Given the description of an element on the screen output the (x, y) to click on. 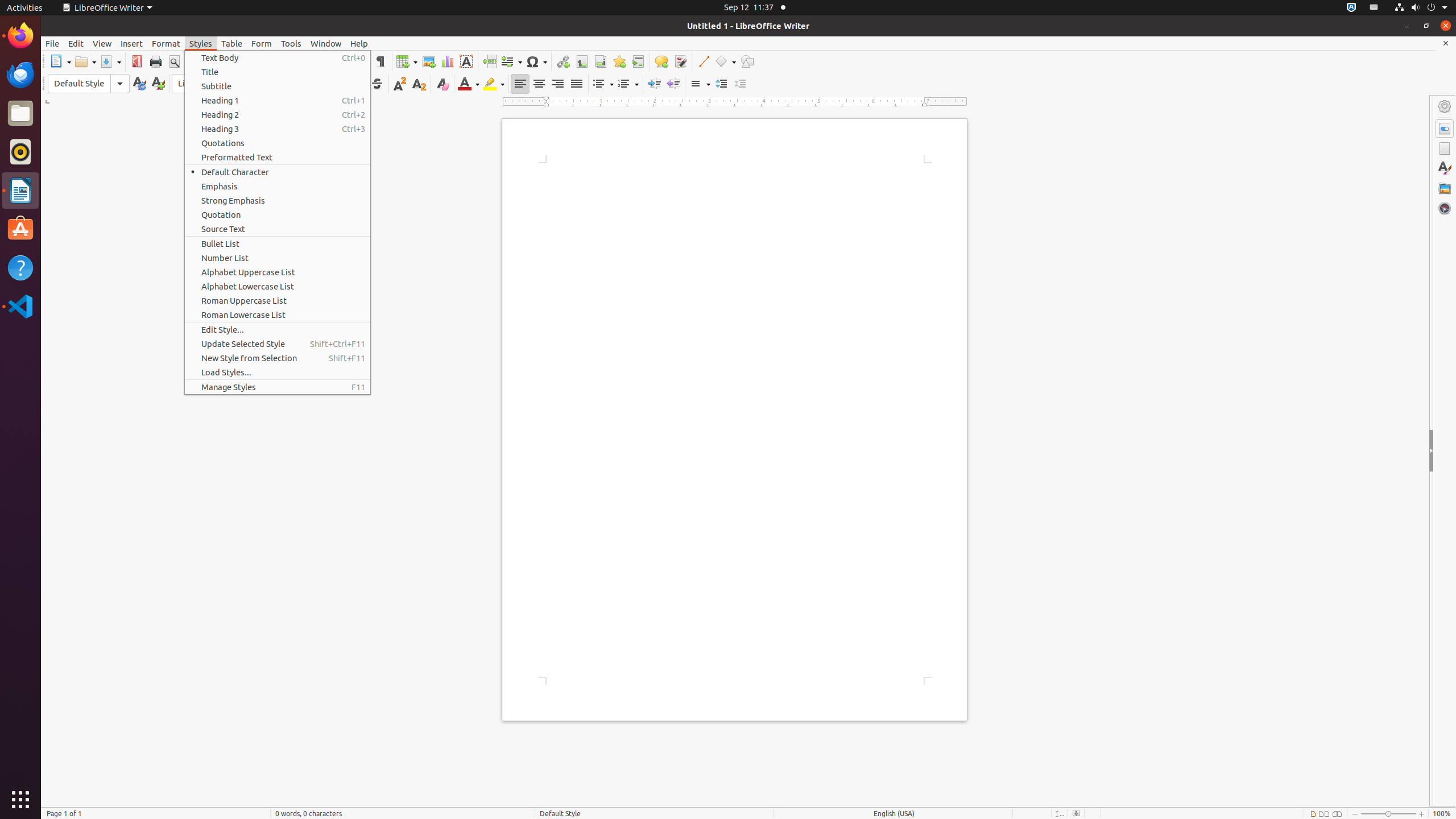
Window Element type: menu (325, 43)
Thunderbird Mail Element type: push-button (20, 74)
Font Color Element type: push-button (468, 83)
Default Character Element type: radio-menu-item (277, 171)
Rhythmbox Element type: push-button (20, 151)
